Given the description of an element on the screen output the (x, y) to click on. 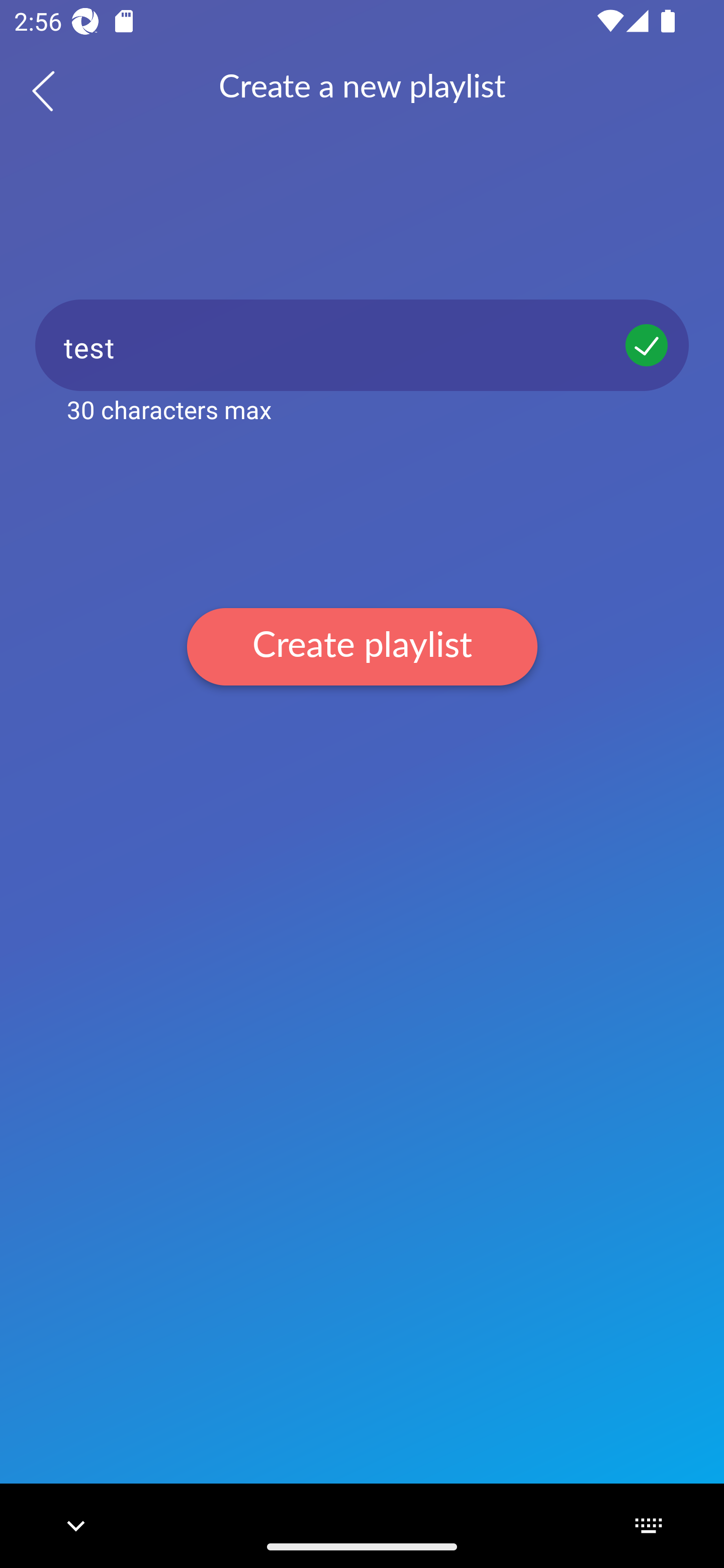
test (361, 344)
Create playlist (362, 646)
